Given the description of an element on the screen output the (x, y) to click on. 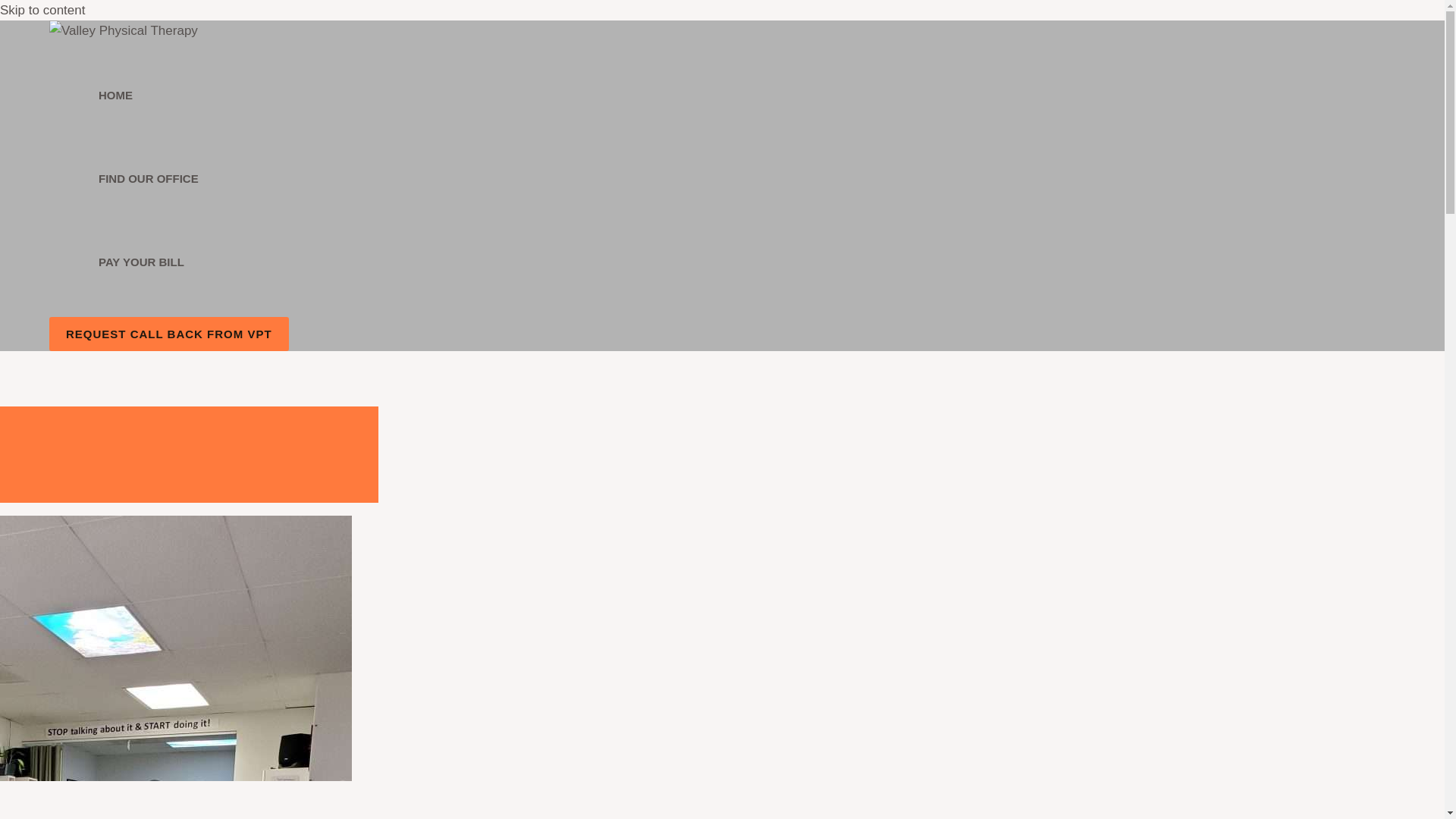
HOME (148, 95)
Skip to content (42, 10)
REQUEST CALL BACK FROM VPT (168, 333)
PAY YOUR BILL (148, 261)
Skip to content (42, 10)
FIND OUR OFFICE (148, 178)
